Given the description of an element on the screen output the (x, y) to click on. 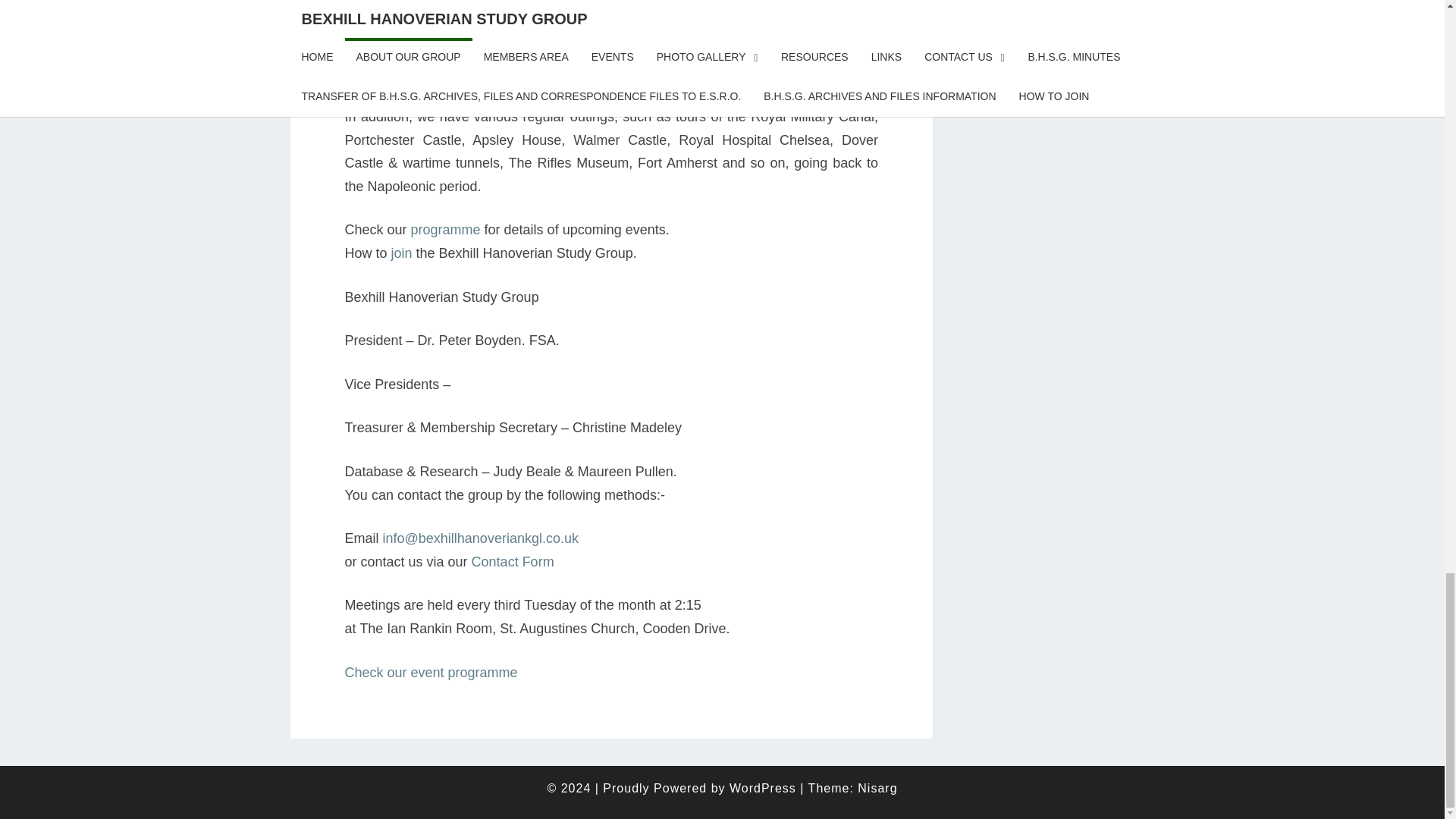
programme (445, 229)
Contact Form (512, 561)
join (401, 253)
Check our event programme (429, 672)
